Given the description of an element on the screen output the (x, y) to click on. 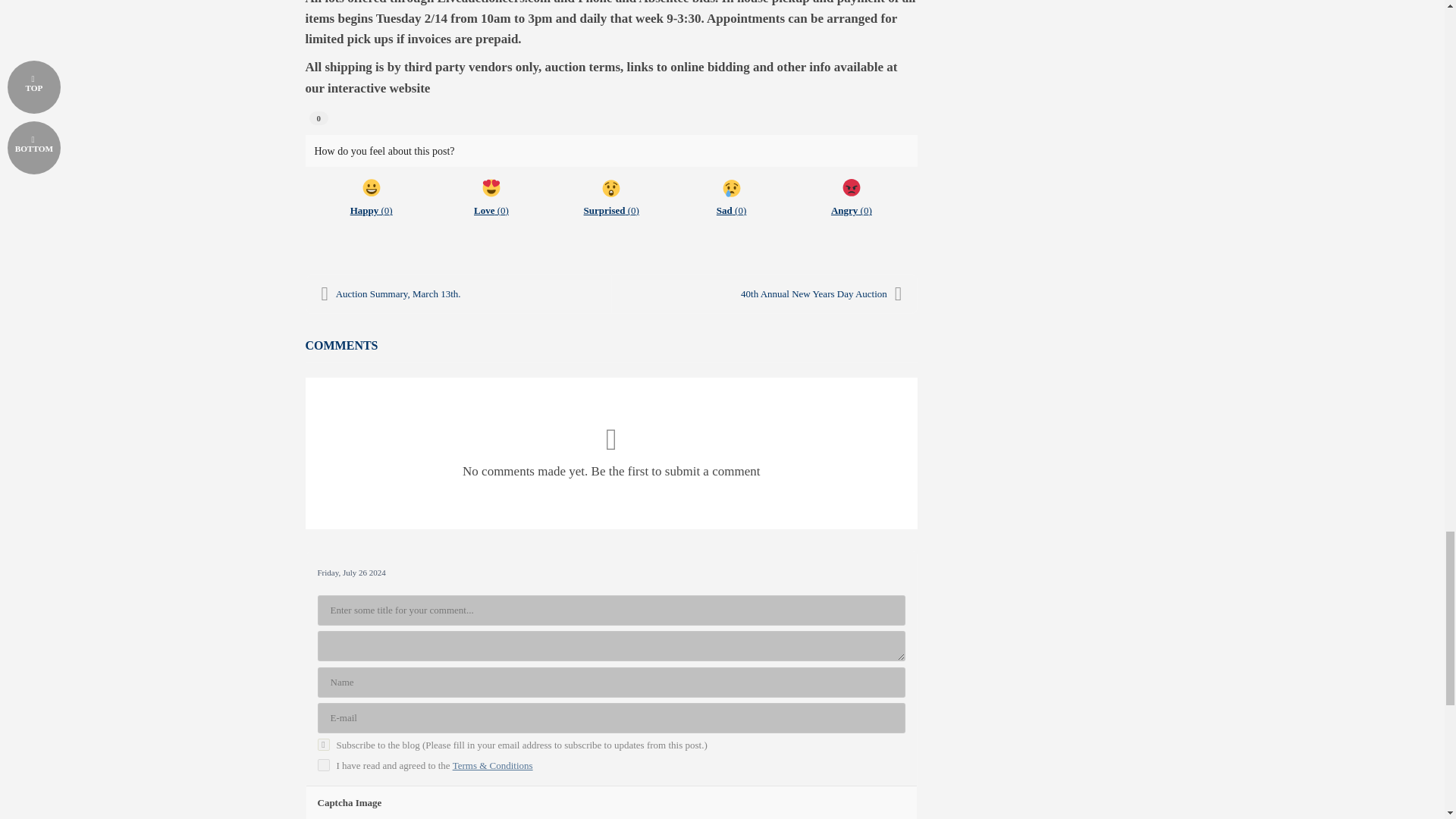
0 votes (318, 118)
